Given the description of an element on the screen output the (x, y) to click on. 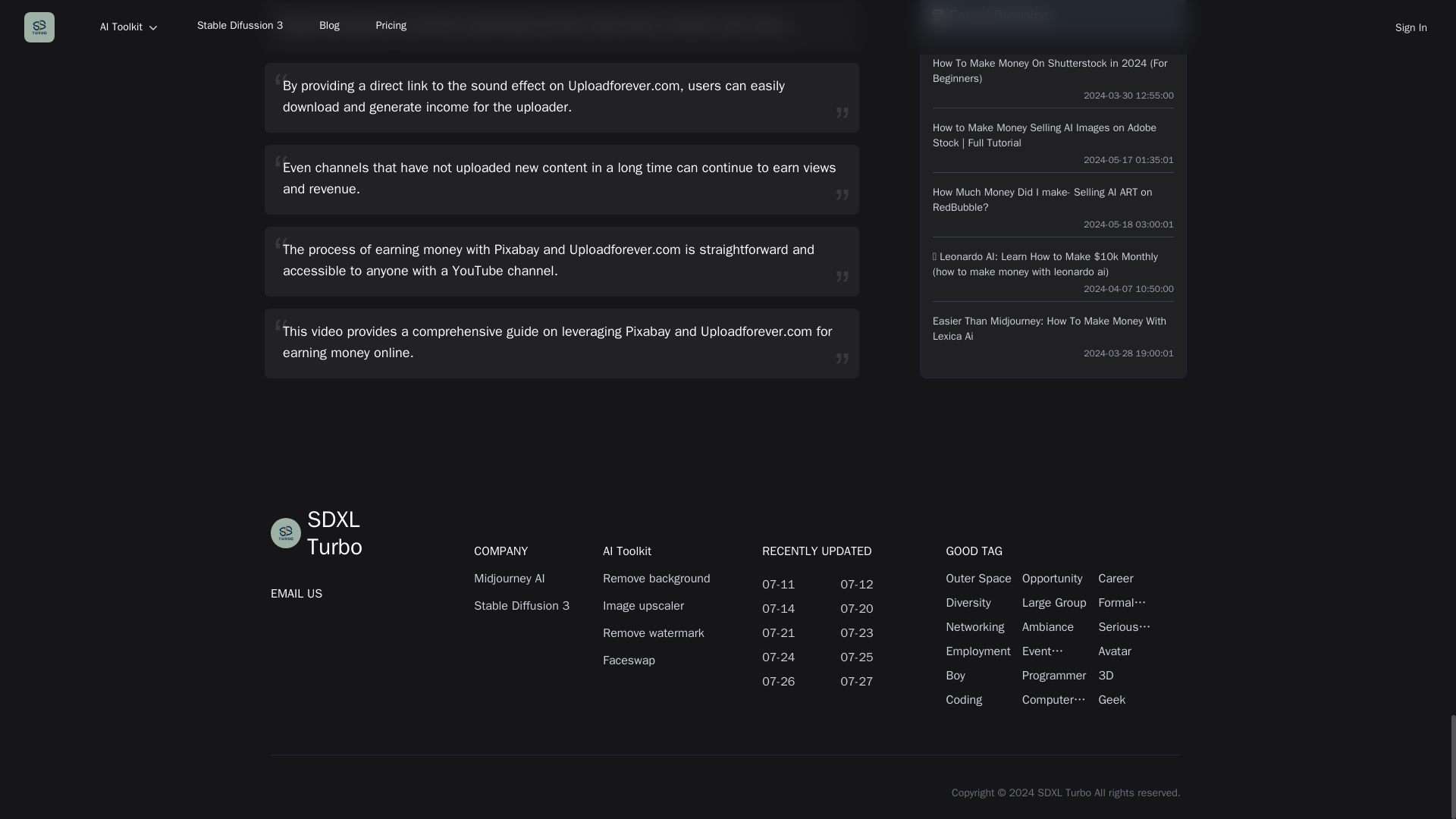
Stable Diffusion 3 (531, 606)
SDXL Turbo (341, 533)
07-25 (874, 657)
Event Photography (1059, 651)
2024-07-11 (795, 584)
Serious Atmosphere (1135, 627)
Midjourney AI (531, 578)
Diversity (984, 602)
Employment (984, 651)
07-23 (874, 633)
Remove background (659, 578)
Remove background (659, 578)
Faceswap (659, 660)
Remove watermark (659, 633)
07-20 (874, 608)
